Given the description of an element on the screen output the (x, y) to click on. 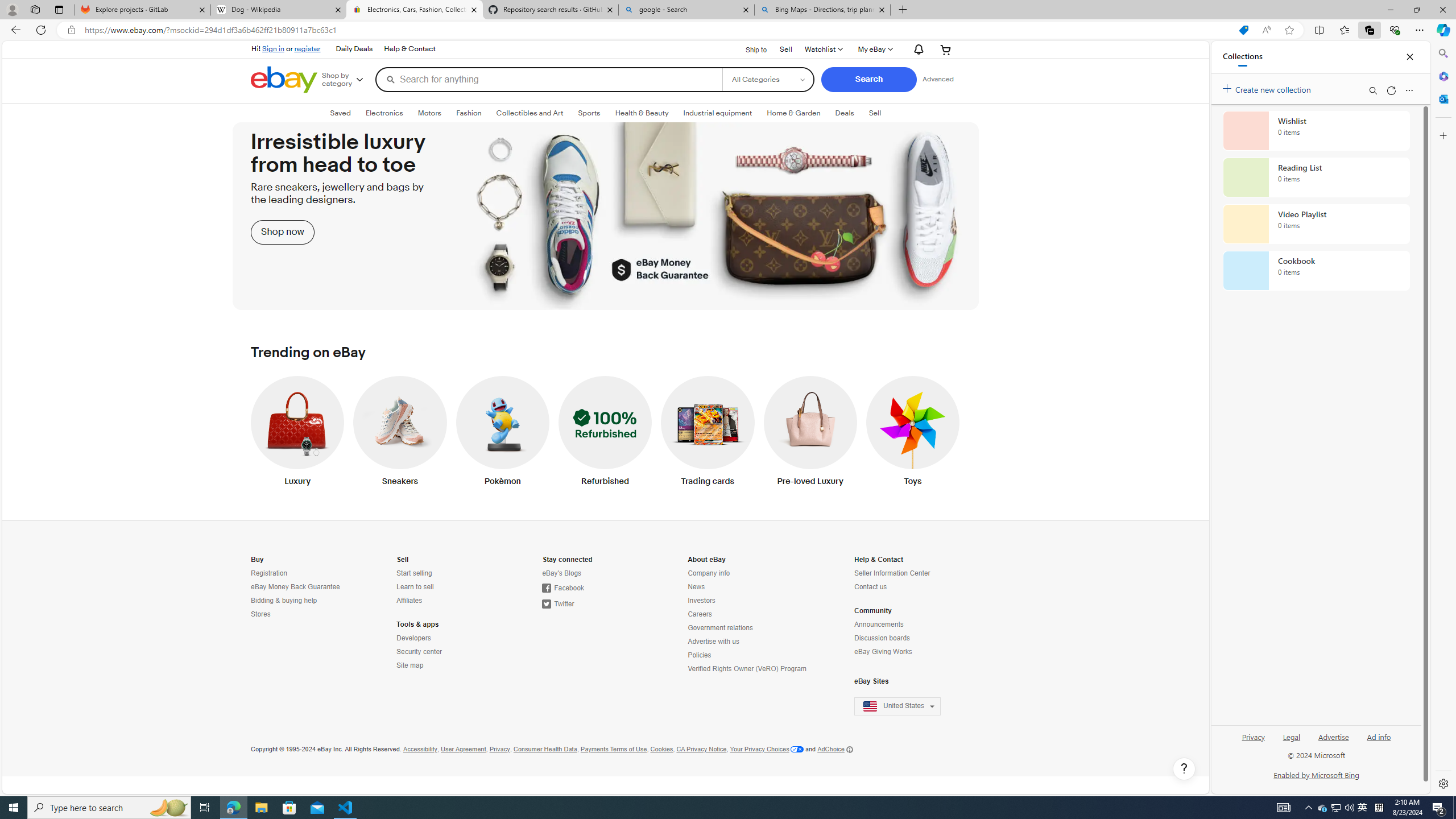
Announcements (904, 624)
Ship to (748, 49)
Deals (844, 112)
Contact us (870, 587)
Expand Cart (946, 49)
MotorsExpand: Motors (429, 112)
About eBay (706, 559)
